Given the description of an element on the screen output the (x, y) to click on. 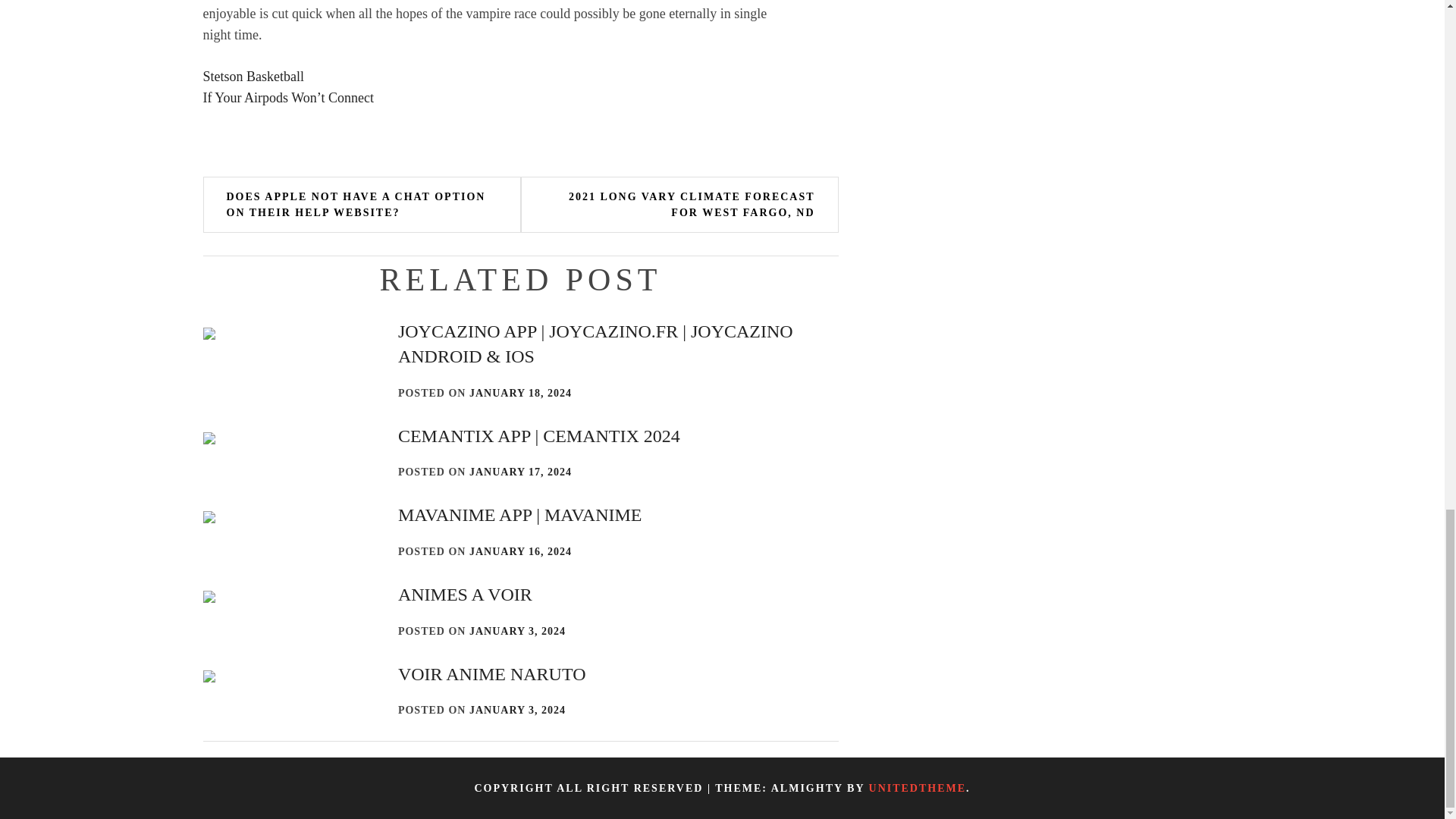
JANUARY 3, 2024 (517, 631)
JANUARY 18, 2024 (520, 392)
DOES APPLE NOT HAVE A CHAT OPTION ON THEIR HELP WEBSITE? (361, 204)
VOIR ANIME NARUTO (491, 673)
JANUARY 17, 2024 (520, 471)
JANUARY 16, 2024 (520, 551)
JANUARY 3, 2024 (517, 709)
2021 LONG VARY CLIMATE FORECAST FOR WEST FARGO, ND (679, 204)
ANIMES A VOIR (464, 594)
Stetson Basketball (253, 76)
